Given the description of an element on the screen output the (x, y) to click on. 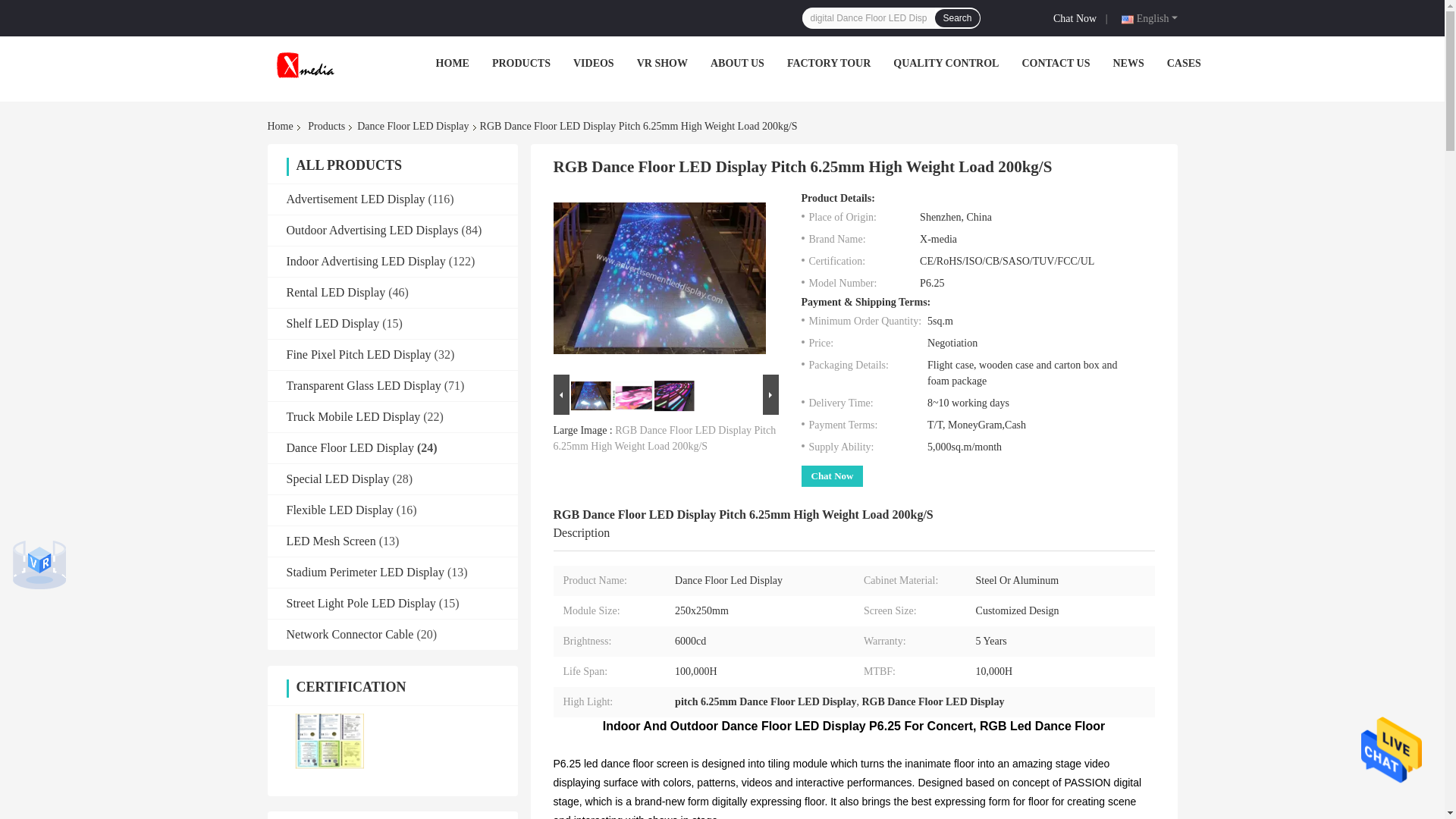
PRODUCTS (521, 62)
Outdoor Advertising LED Displays (372, 229)
Home (282, 126)
Search (956, 18)
Products (325, 126)
Dance Floor LED Display (412, 126)
CASES (1184, 62)
Chat Now (1077, 17)
NEWS (1128, 62)
QUALITY CONTROL (945, 62)
